Given the description of an element on the screen output the (x, y) to click on. 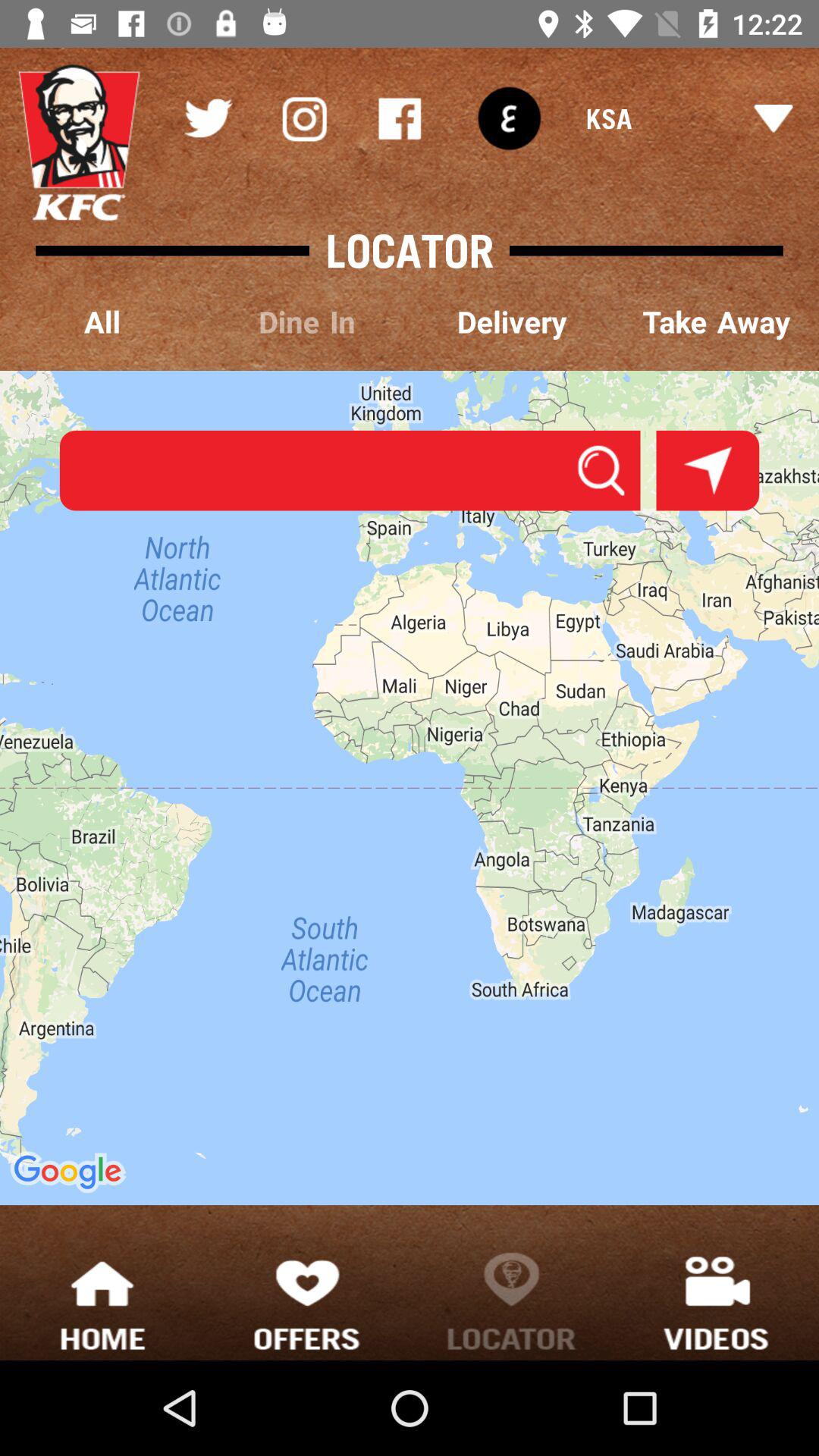
scroll to dine in item (306, 322)
